Given the description of an element on the screen output the (x, y) to click on. 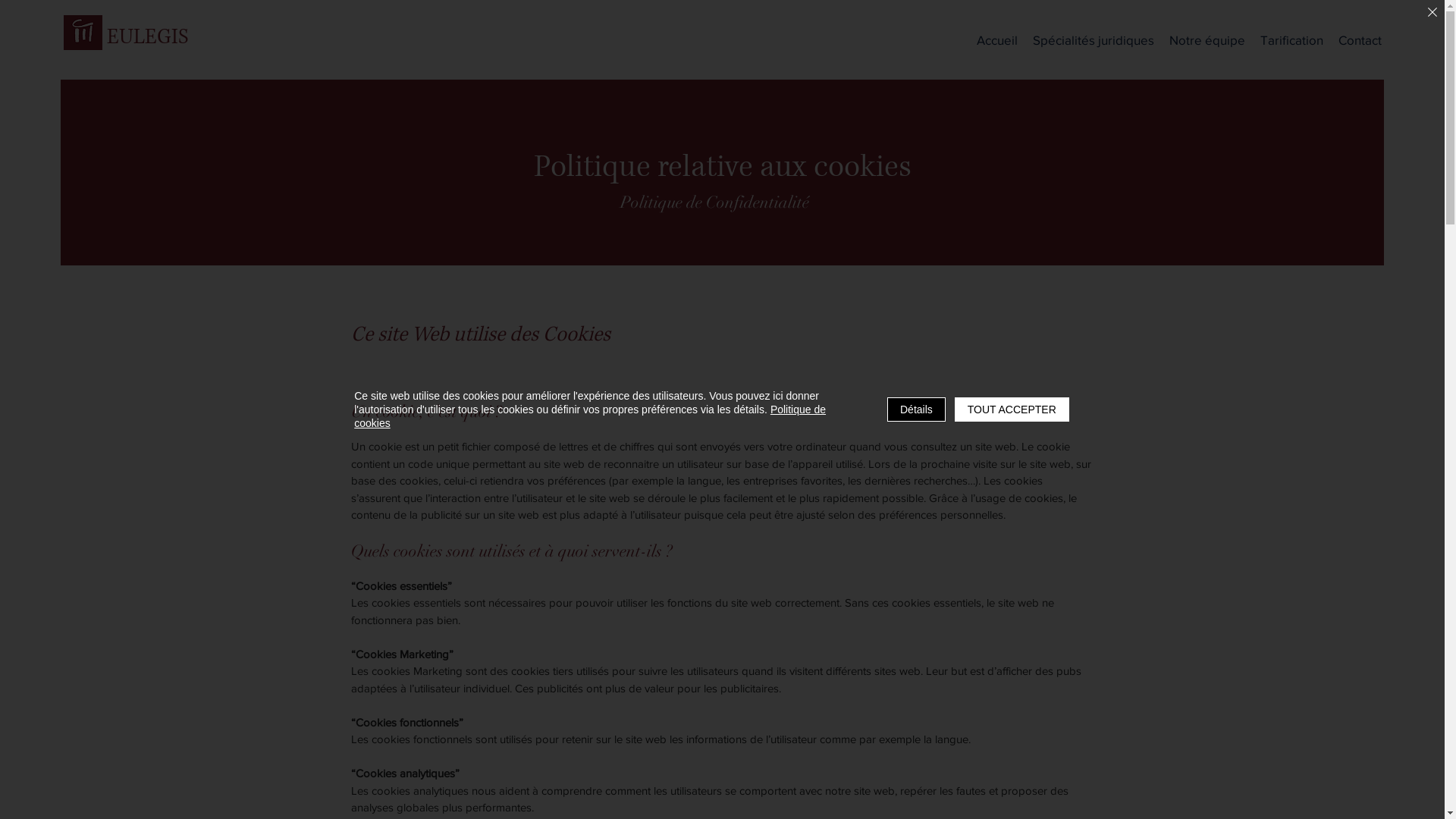
Tarification Element type: text (1291, 39)
Politique de cookies Element type: text (589, 416)
Accueil Element type: text (997, 39)
Contact Element type: text (1359, 39)
EULEGIS Element type: text (147, 36)
TOUT ACCEPTER Element type: text (1011, 409)
